Given the description of an element on the screen output the (x, y) to click on. 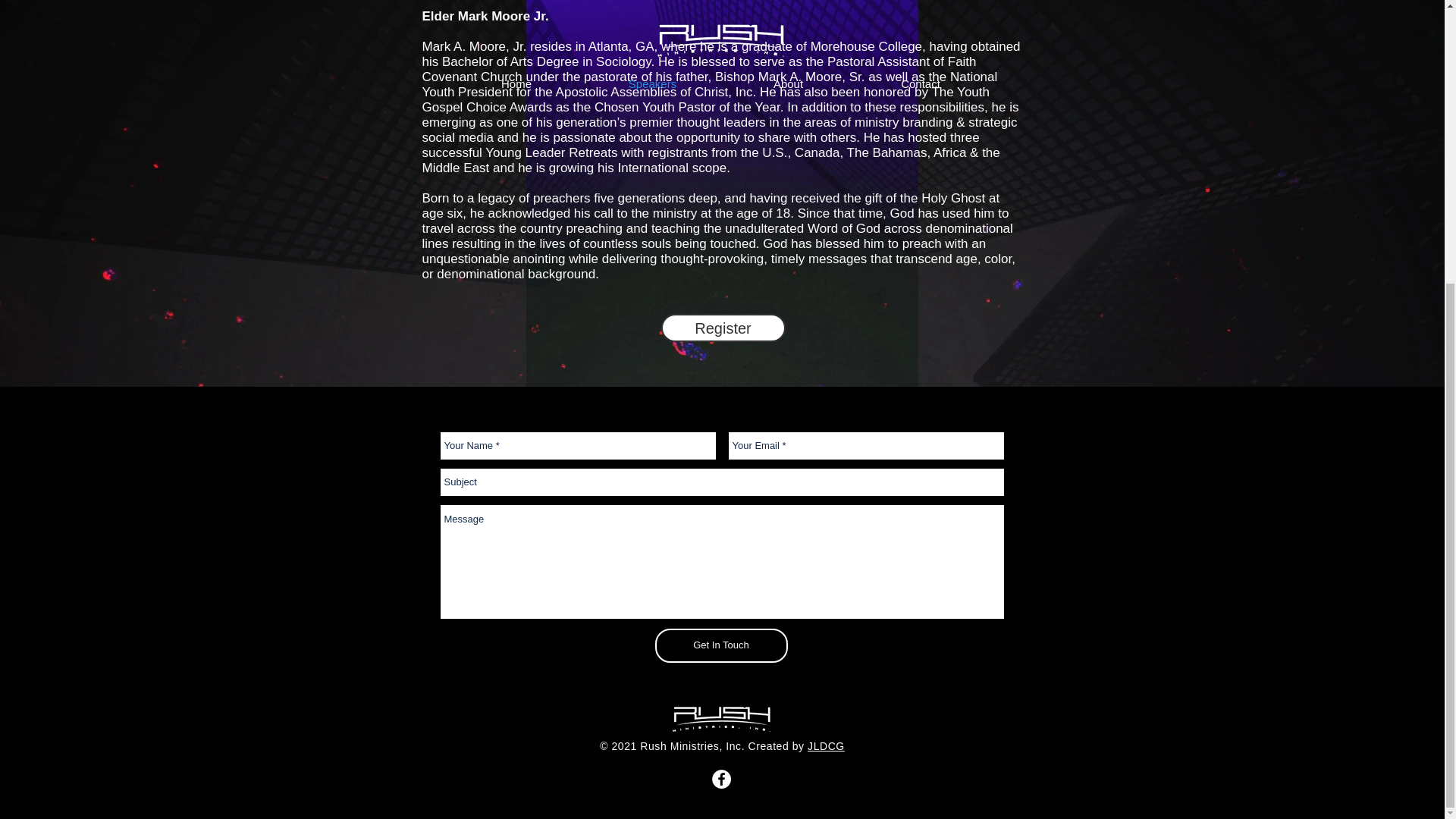
Get In Touch (721, 645)
JLDCG (826, 746)
Register (723, 327)
